Given the description of an element on the screen output the (x, y) to click on. 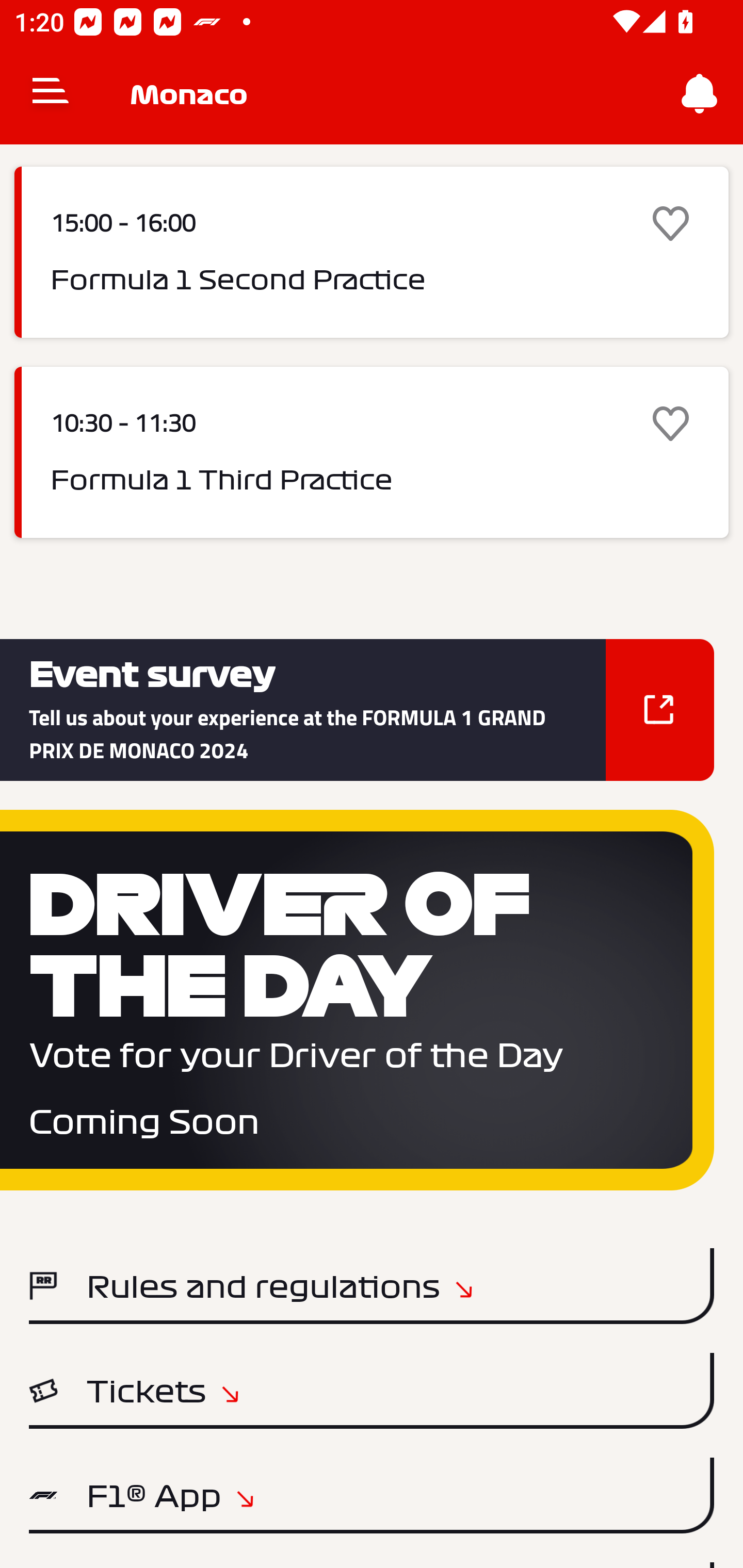
Navigate up (50, 93)
Notifications (699, 93)
15:00 - 16:00 Formula 1 Second Practice (371, 251)
10:30 - 11:30 Formula 1 Third Practice (371, 451)
Rules and regulations (371, 1285)
Tickets (371, 1390)
F1® App (371, 1495)
